Given the description of an element on the screen output the (x, y) to click on. 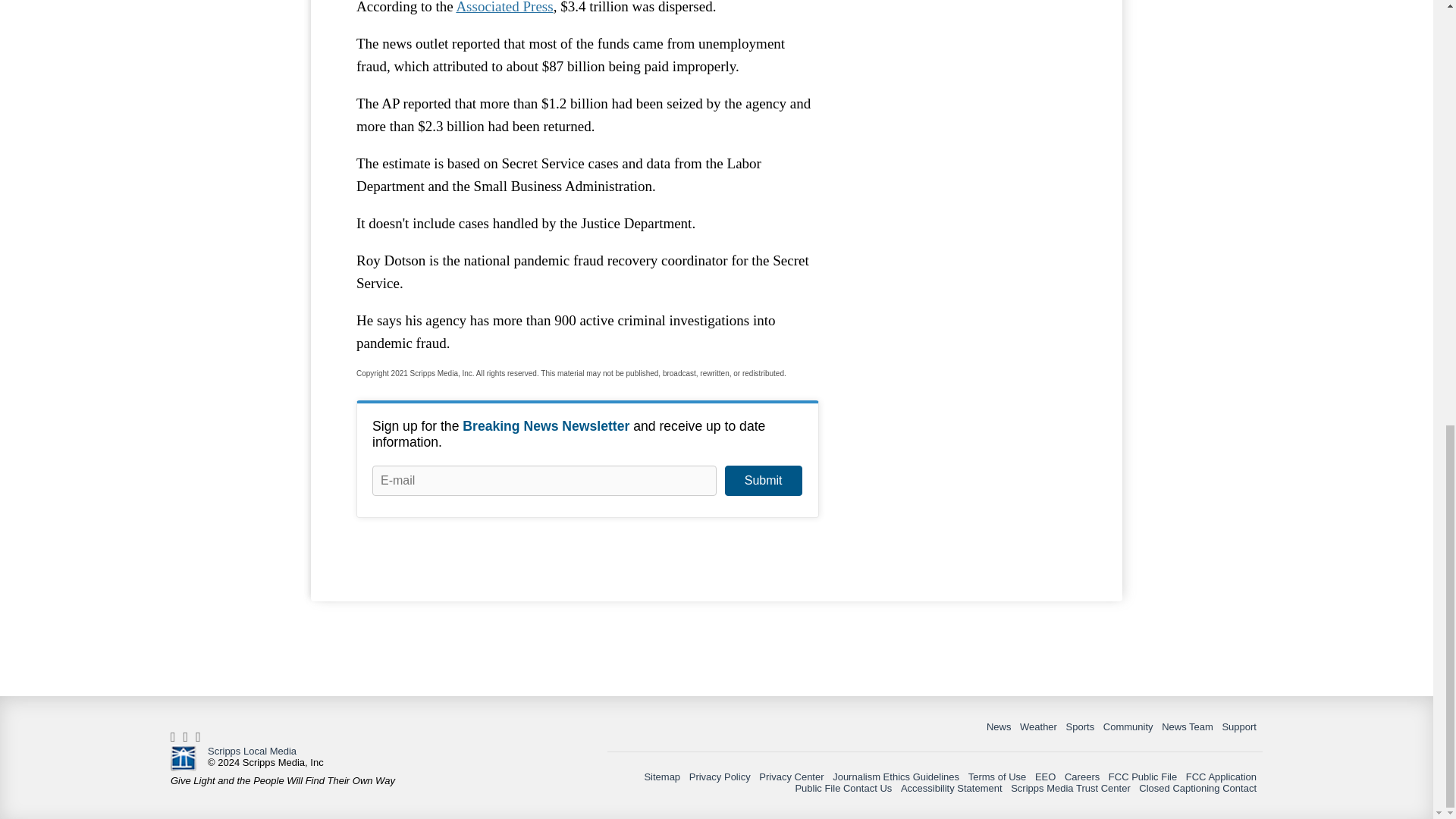
Submit (763, 481)
